Given the description of an element on the screen output the (x, y) to click on. 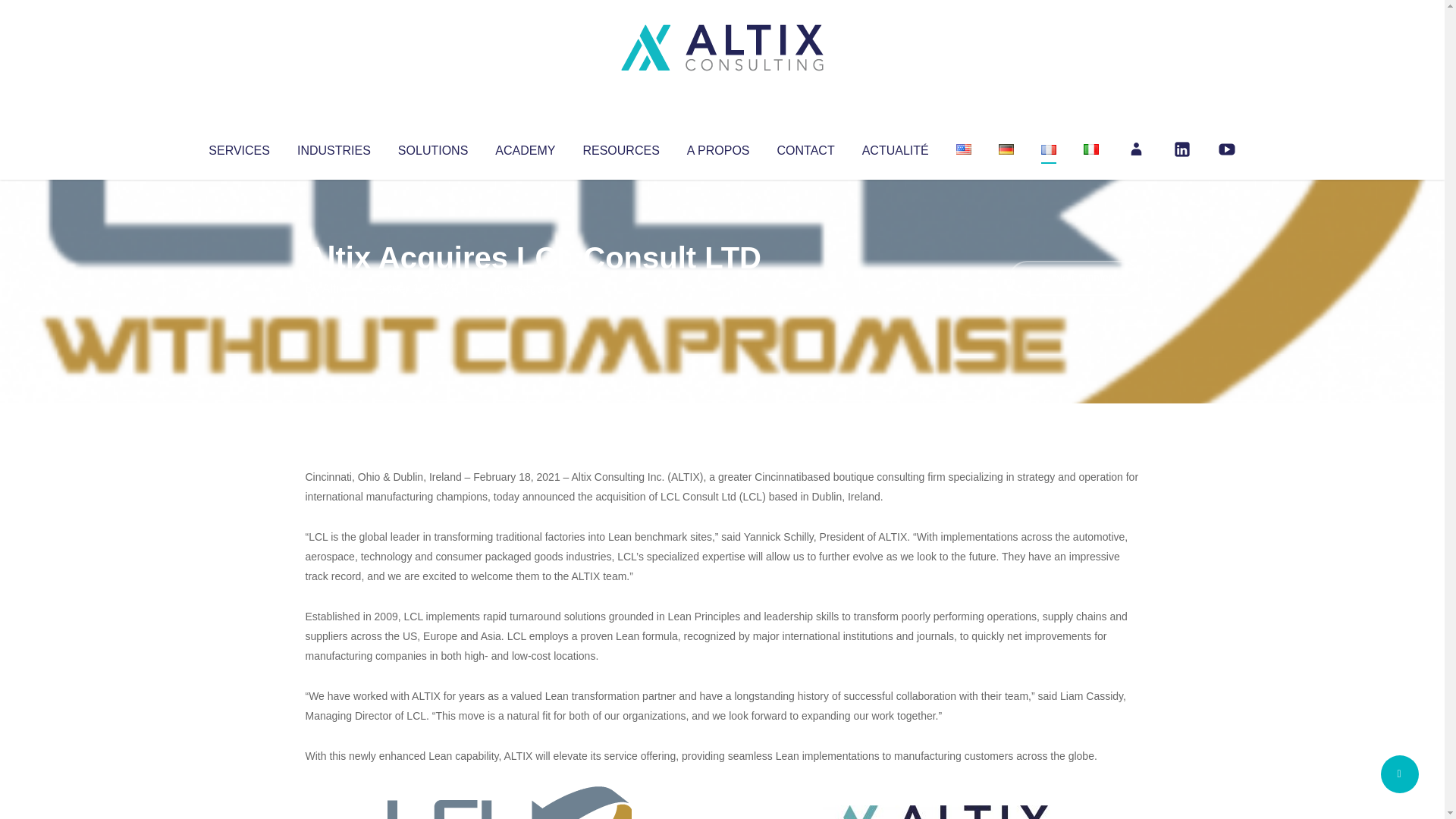
SOLUTIONS (432, 146)
INDUSTRIES (334, 146)
Articles par Altix (333, 287)
RESOURCES (620, 146)
No Comments (1073, 278)
ACADEMY (524, 146)
Uncategorized (530, 287)
A PROPOS (718, 146)
Altix (333, 287)
SERVICES (238, 146)
